Given the description of an element on the screen output the (x, y) to click on. 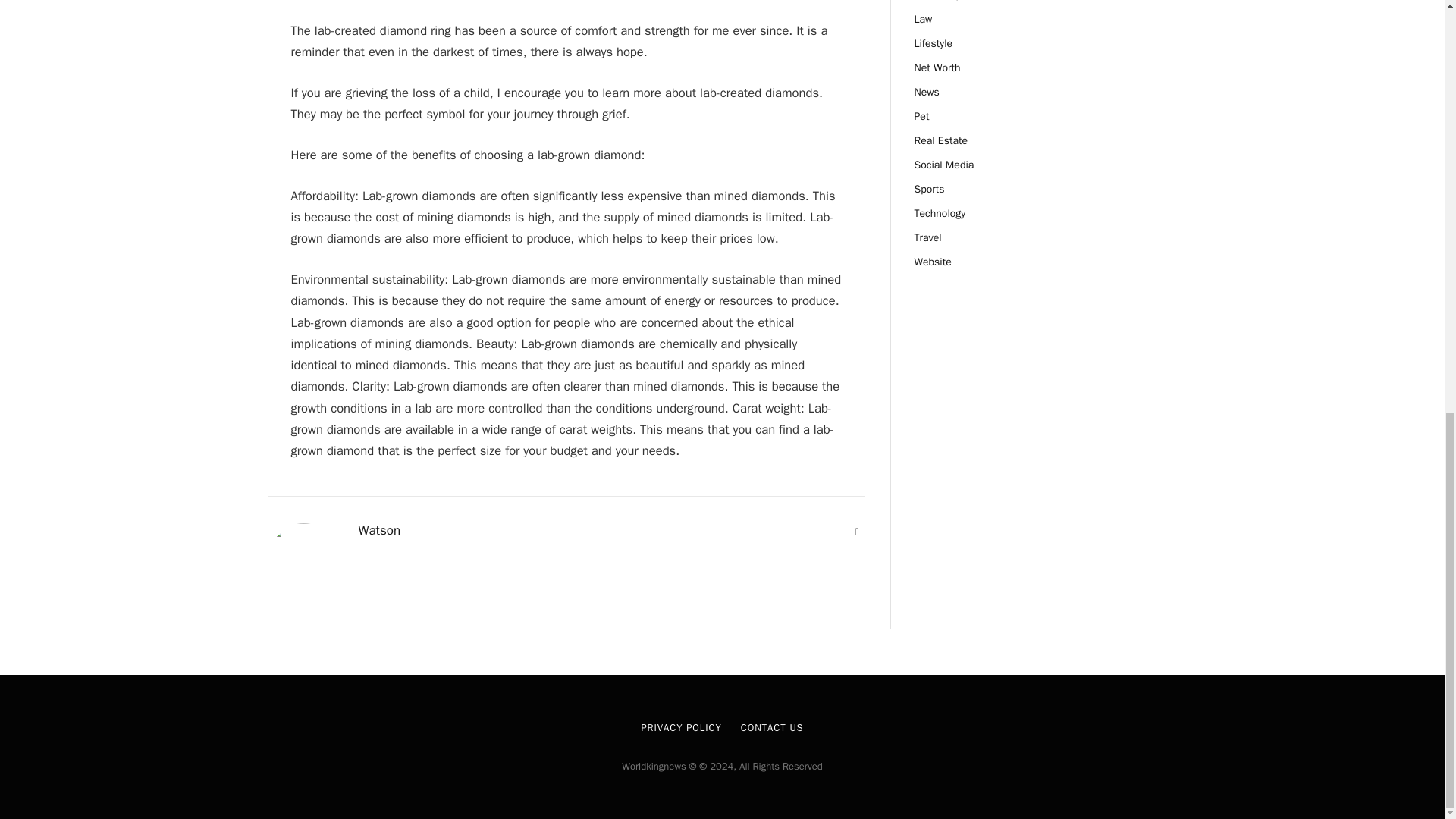
Website (856, 531)
Website (856, 531)
Posts by Watson (379, 530)
Watson (379, 530)
